Given the description of an element on the screen output the (x, y) to click on. 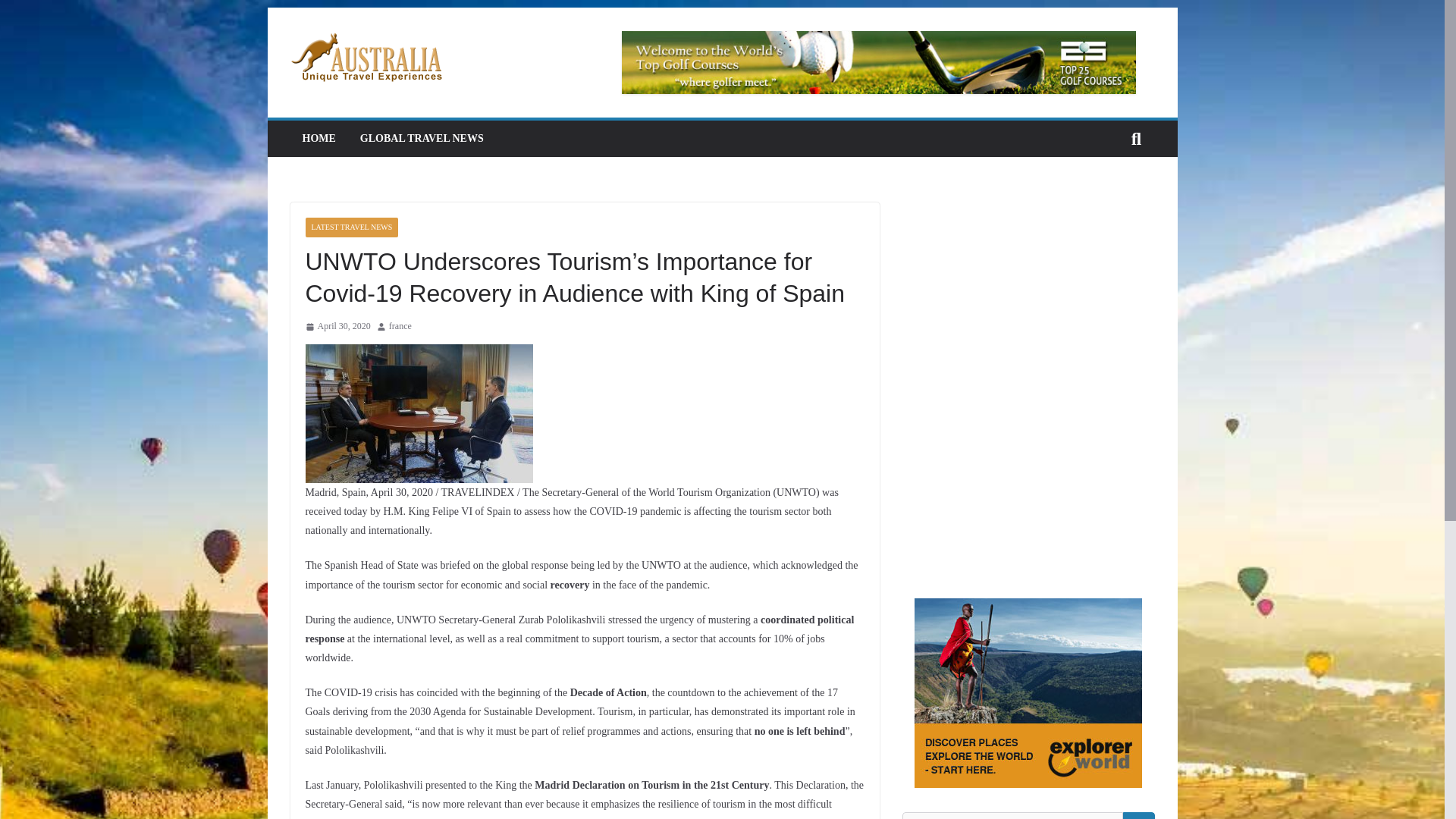
GLOBAL TRAVEL NEWS (421, 138)
HOME (317, 138)
france (400, 326)
LATEST TRAVEL NEWS (350, 227)
April 30, 2020 (336, 326)
2:49 am (336, 326)
france (400, 326)
